Given the description of an element on the screen output the (x, y) to click on. 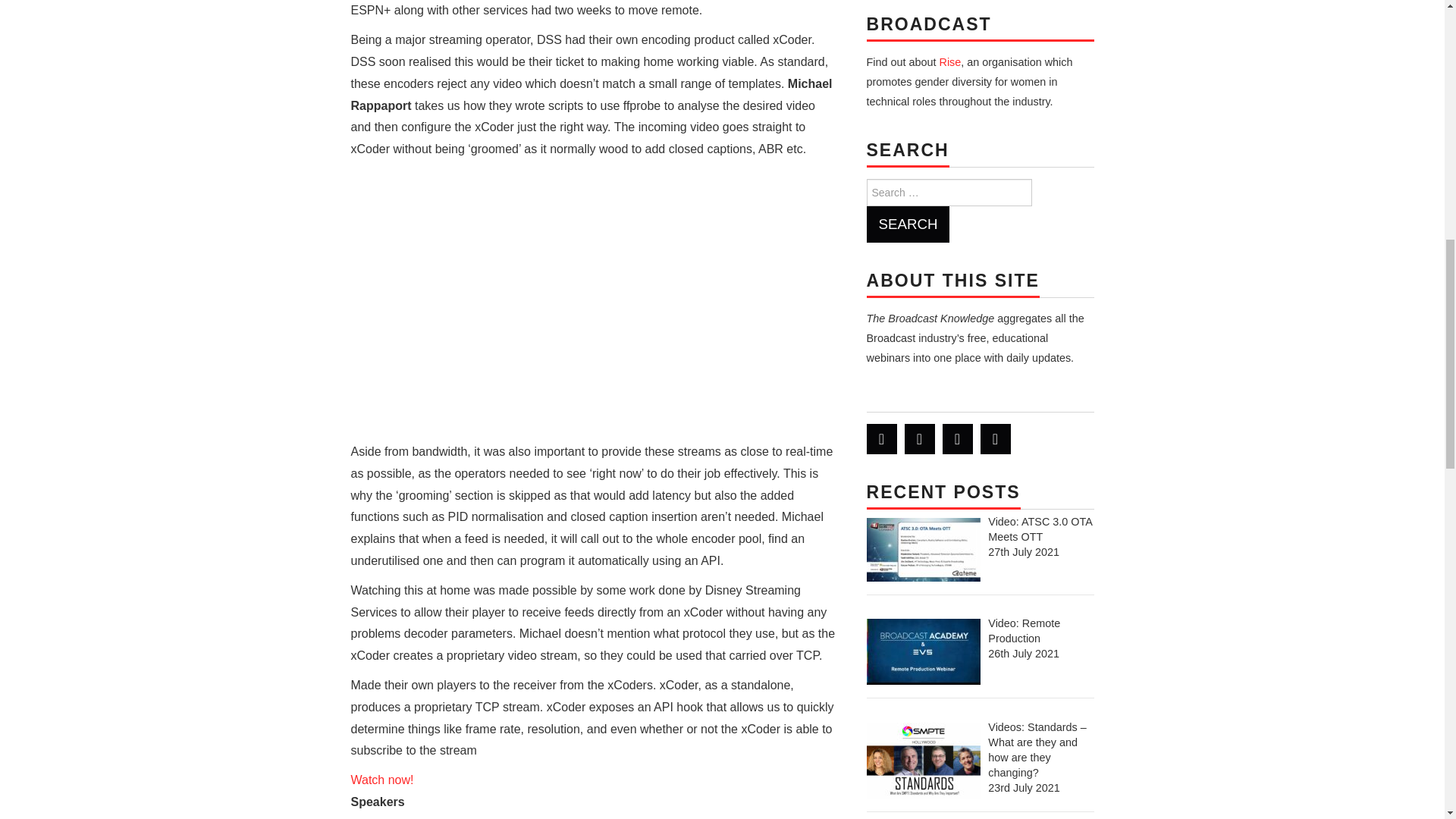
Search for: (948, 192)
Twitter (881, 439)
Rise (949, 61)
YouTube player (592, 304)
Search (907, 224)
Search (907, 224)
Search (907, 224)
Facebook (919, 439)
Watch now! (381, 779)
